Given the description of an element on the screen output the (x, y) to click on. 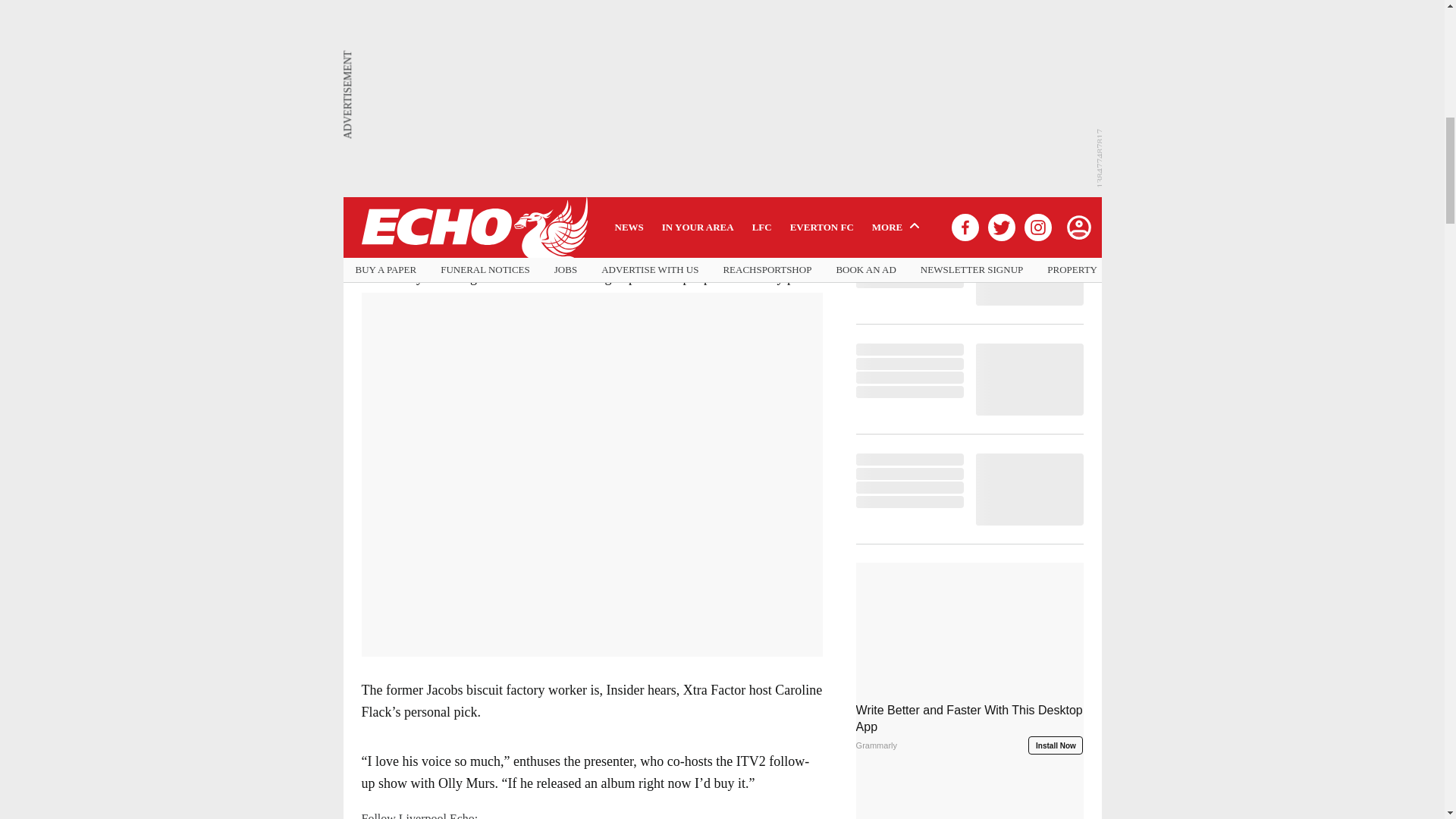
Write Better and Faster With This Desktop App (969, 626)
